Given the description of an element on the screen output the (x, y) to click on. 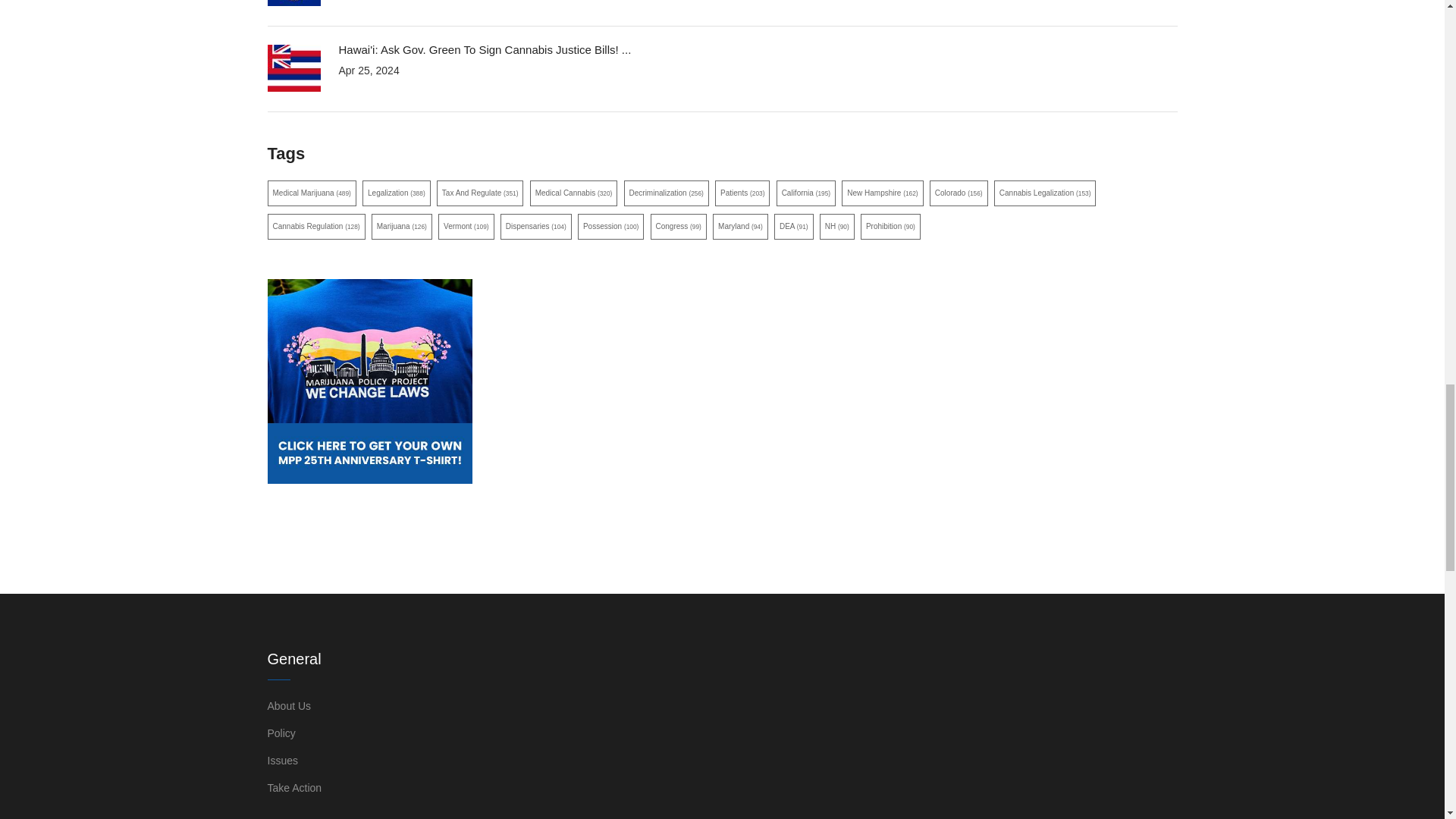
Medical Marijuana (310, 193)
possession (610, 226)
legalization (396, 193)
Tax and Regulate (480, 193)
medical cannabis (573, 193)
patients (742, 193)
decriminalization (666, 193)
Colorado (959, 193)
Maryland (740, 226)
cannabis regulation (315, 226)
Vermont (465, 226)
New Hampshire (882, 193)
California (805, 193)
marijuana (401, 226)
Congress (678, 226)
